Given the description of an element on the screen output the (x, y) to click on. 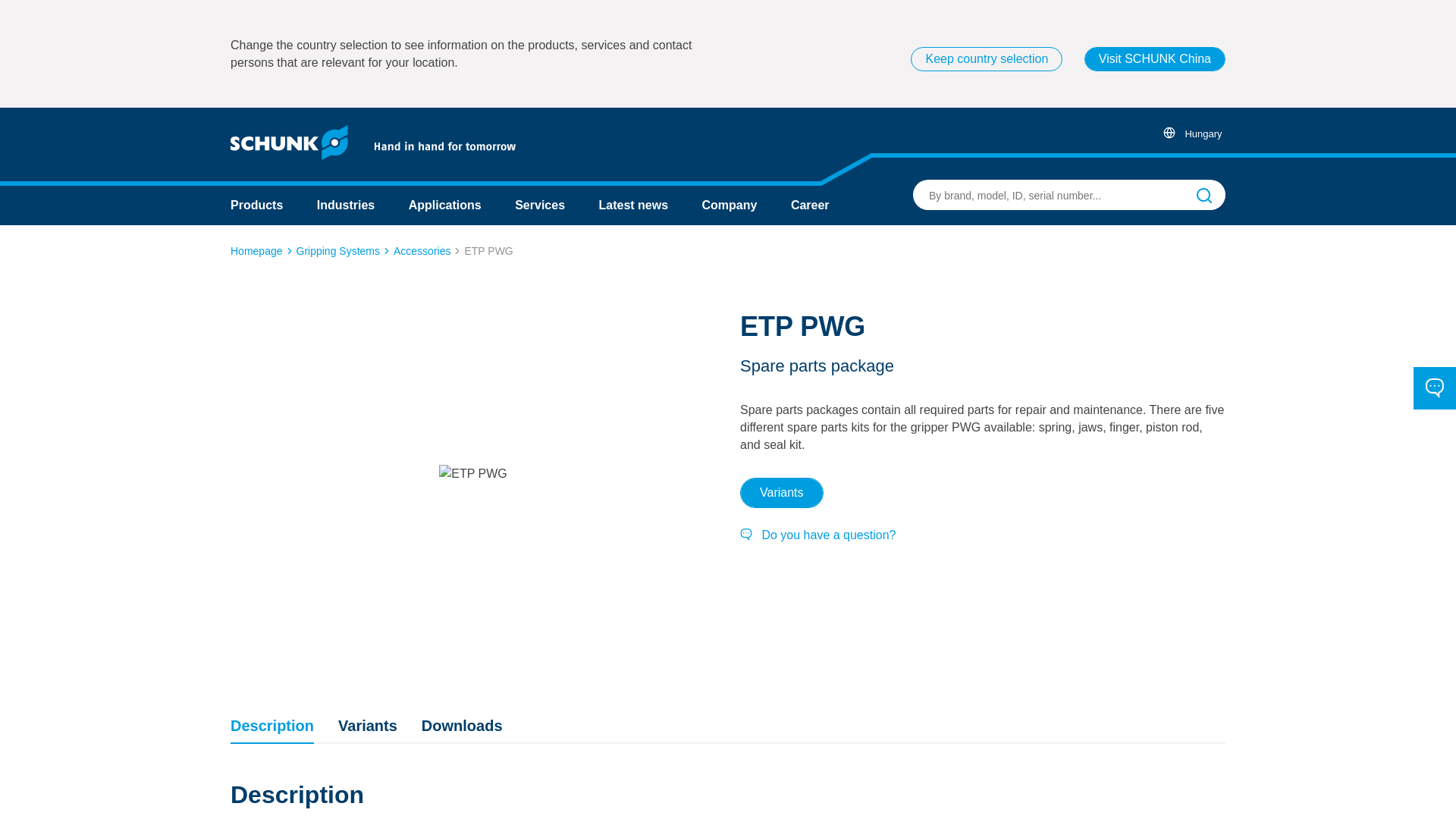
Visit SCHUNK China (1154, 58)
Keep country selection (986, 58)
Products (256, 205)
